Given the description of an element on the screen output the (x, y) to click on. 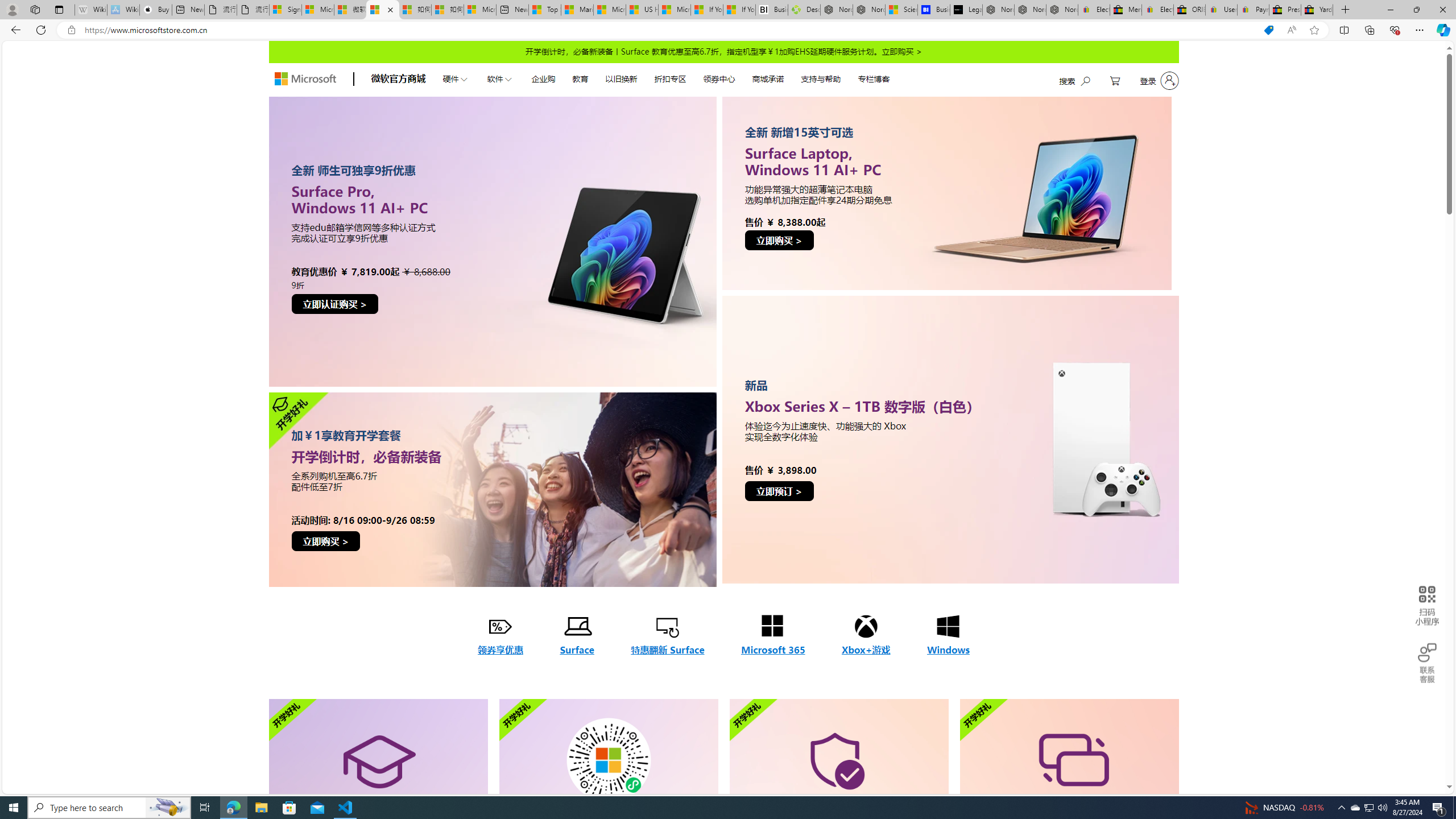
US Heat Deaths Soared To Record High Last Year (641, 9)
